Given the description of an element on the screen output the (x, y) to click on. 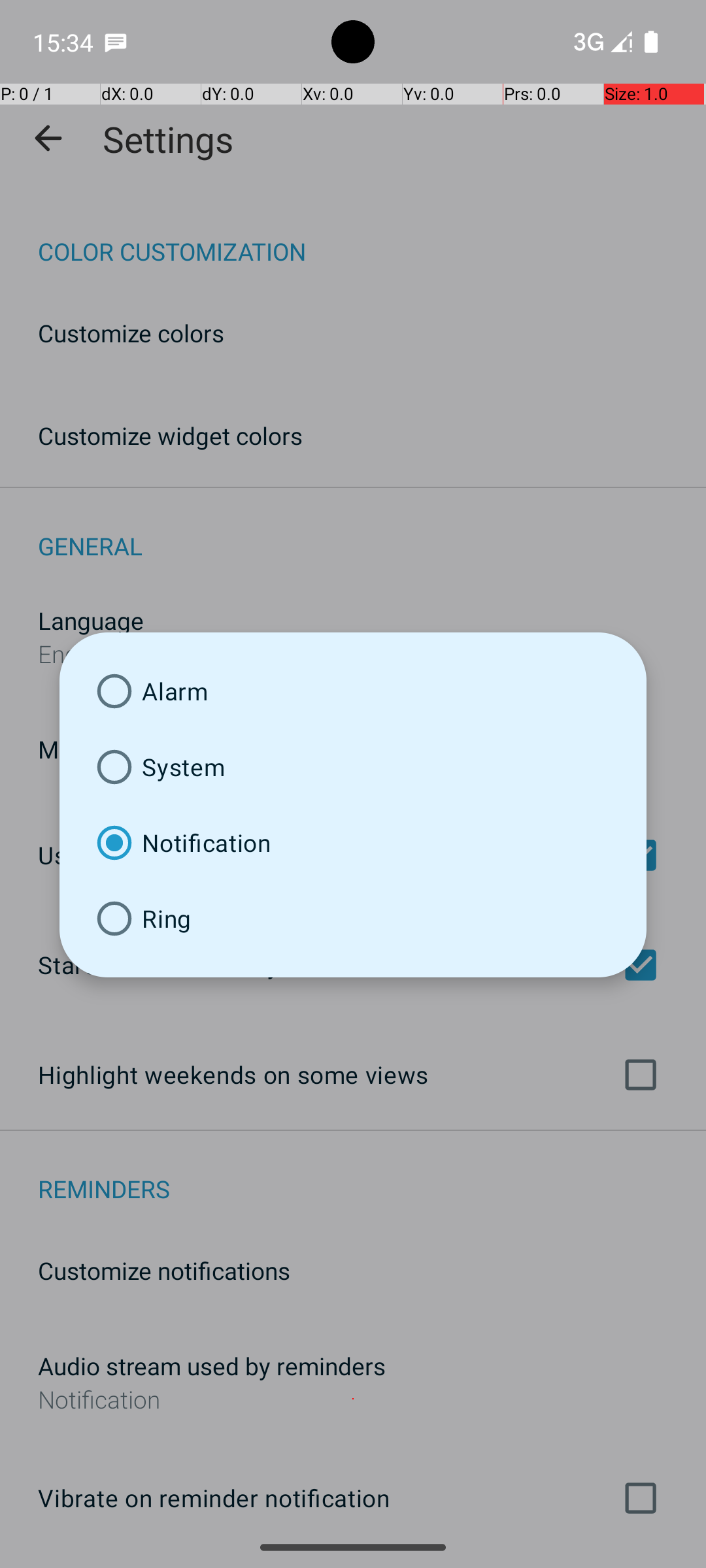
System Element type: android.widget.RadioButton (352, 766)
Ring Element type: android.widget.RadioButton (352, 918)
